Given the description of an element on the screen output the (x, y) to click on. 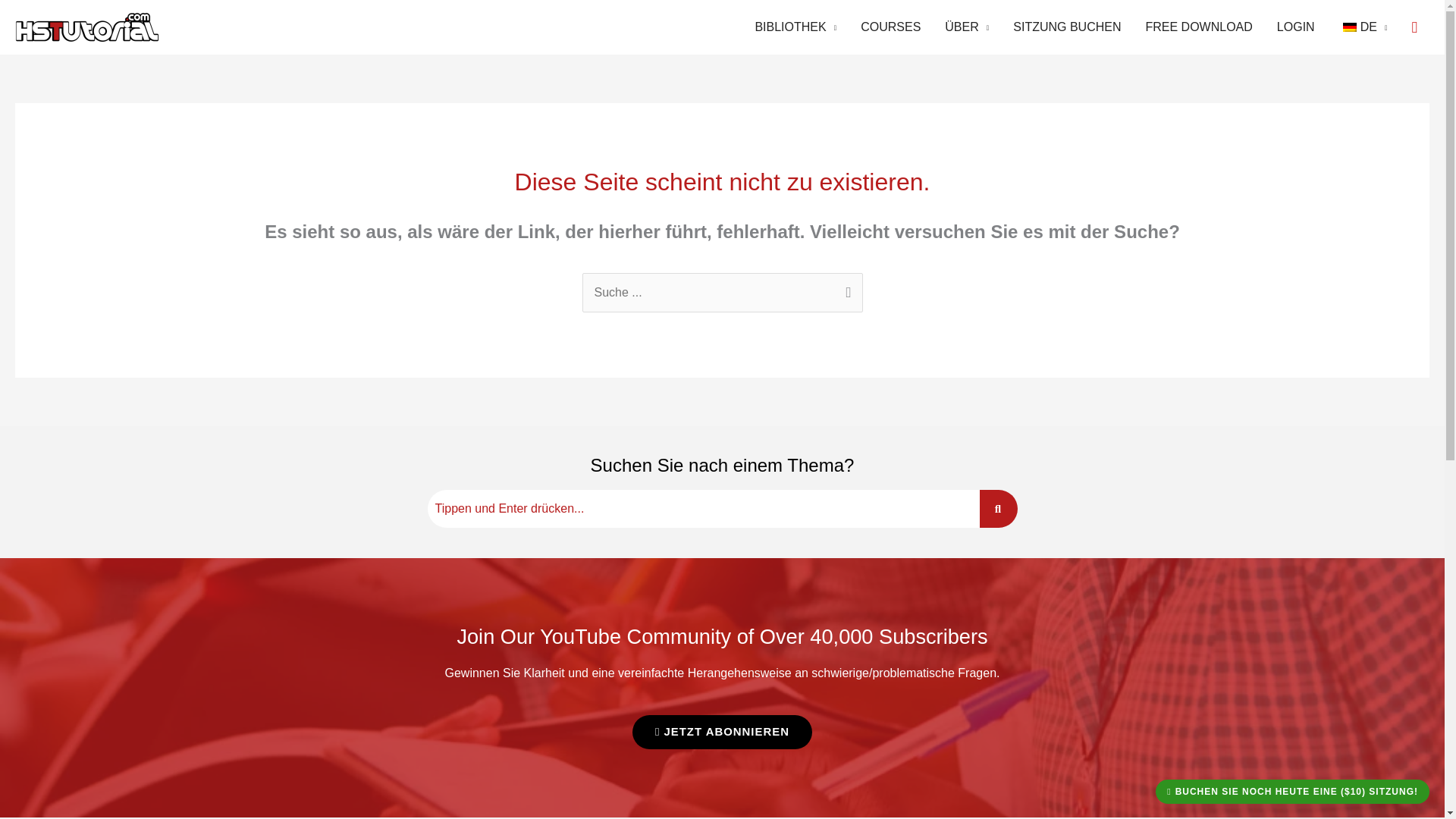
FREE DOWNLOAD (1197, 27)
DE (1362, 27)
German (1349, 26)
BIBLIOTHEK (795, 27)
Suche (703, 508)
COURSES (890, 27)
SITZUNG BUCHEN (1066, 27)
JETZT ABONNIEREN (721, 731)
LOGIN (1295, 27)
